Given the description of an element on the screen output the (x, y) to click on. 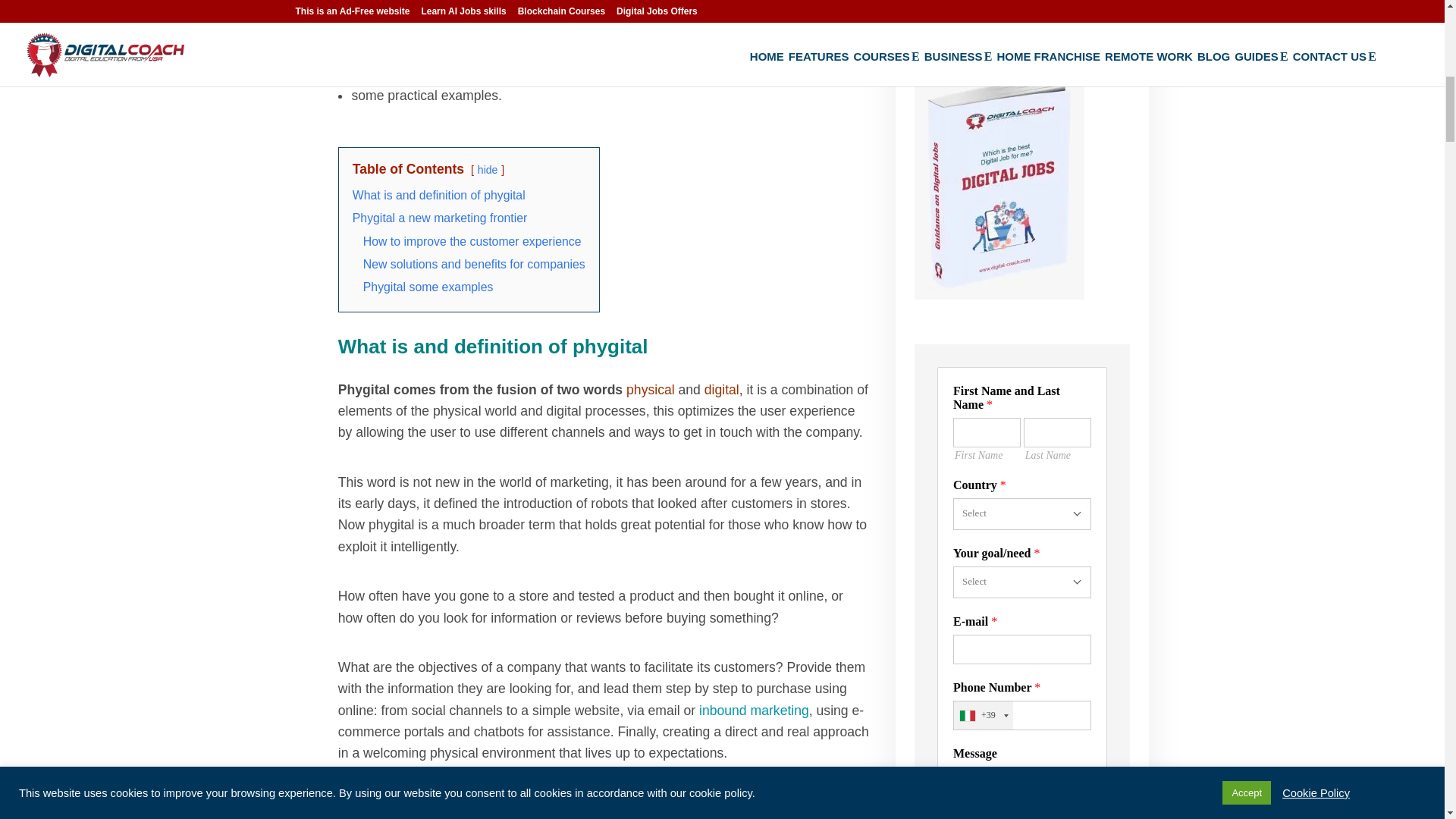
FIND OUT YOUR DIGITAL PROFESSION (1021, 2)
